Given the description of an element on the screen output the (x, y) to click on. 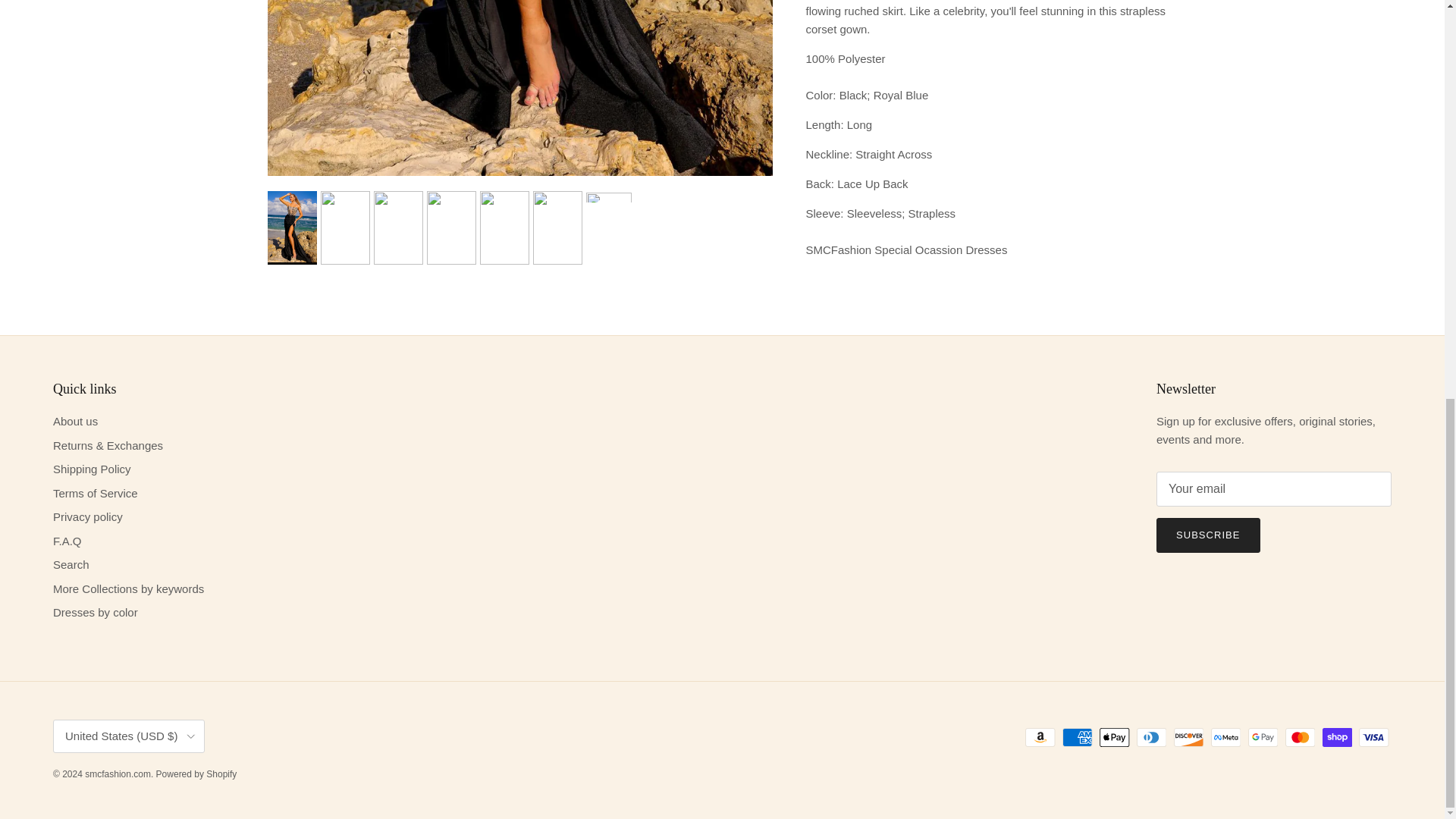
Shop Pay (1337, 737)
Diners Club (1151, 737)
Mastercard (1299, 737)
Discover (1188, 737)
Meta Pay (1225, 737)
Visa (1373, 737)
Apple Pay (1114, 737)
Amazon (1040, 737)
Google Pay (1262, 737)
American Express (1077, 737)
